Given the description of an element on the screen output the (x, y) to click on. 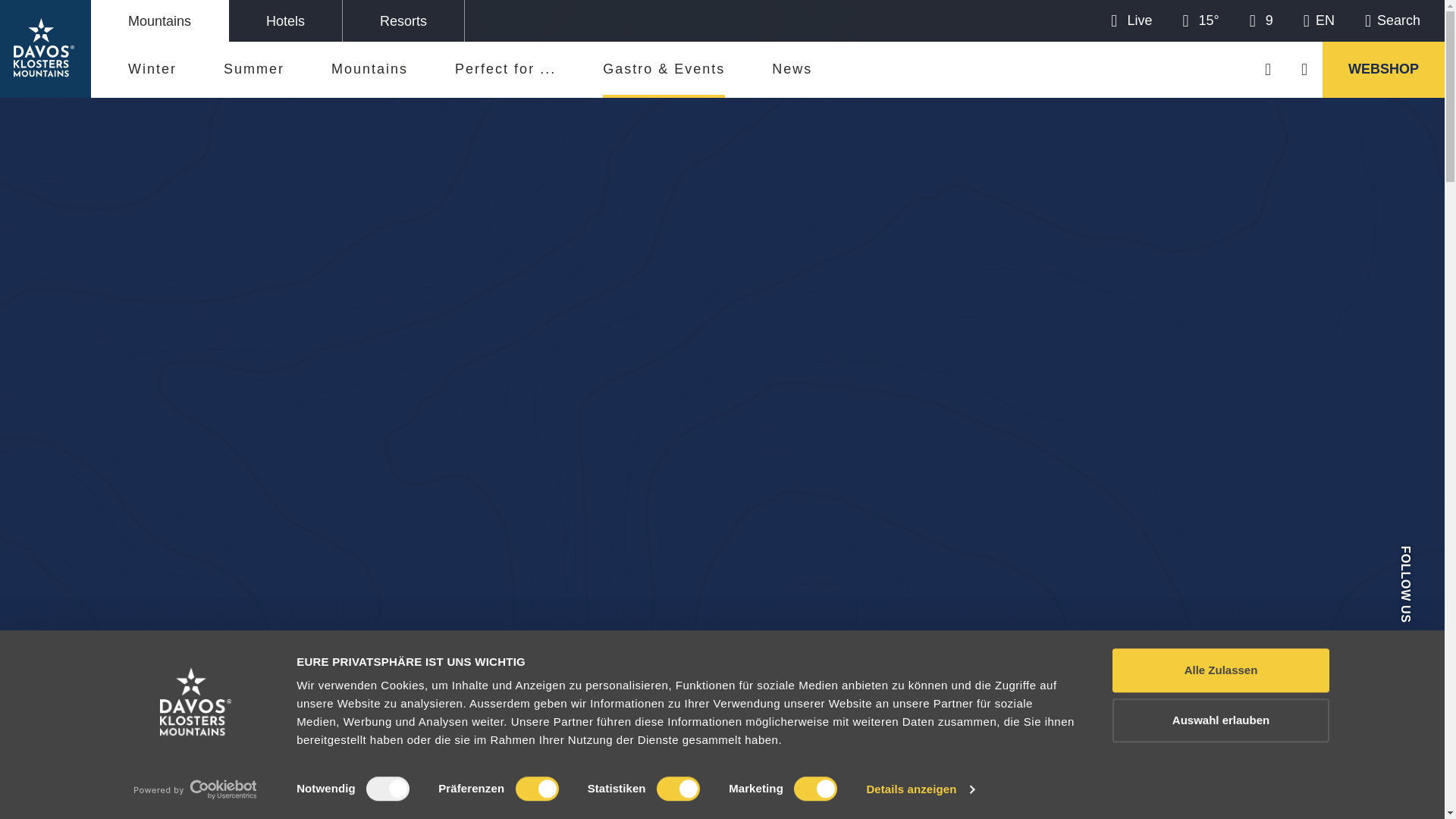
Davo Klosters Mountains Logo (45, 48)
Details anzeigen (920, 789)
